Given the description of an element on the screen output the (x, y) to click on. 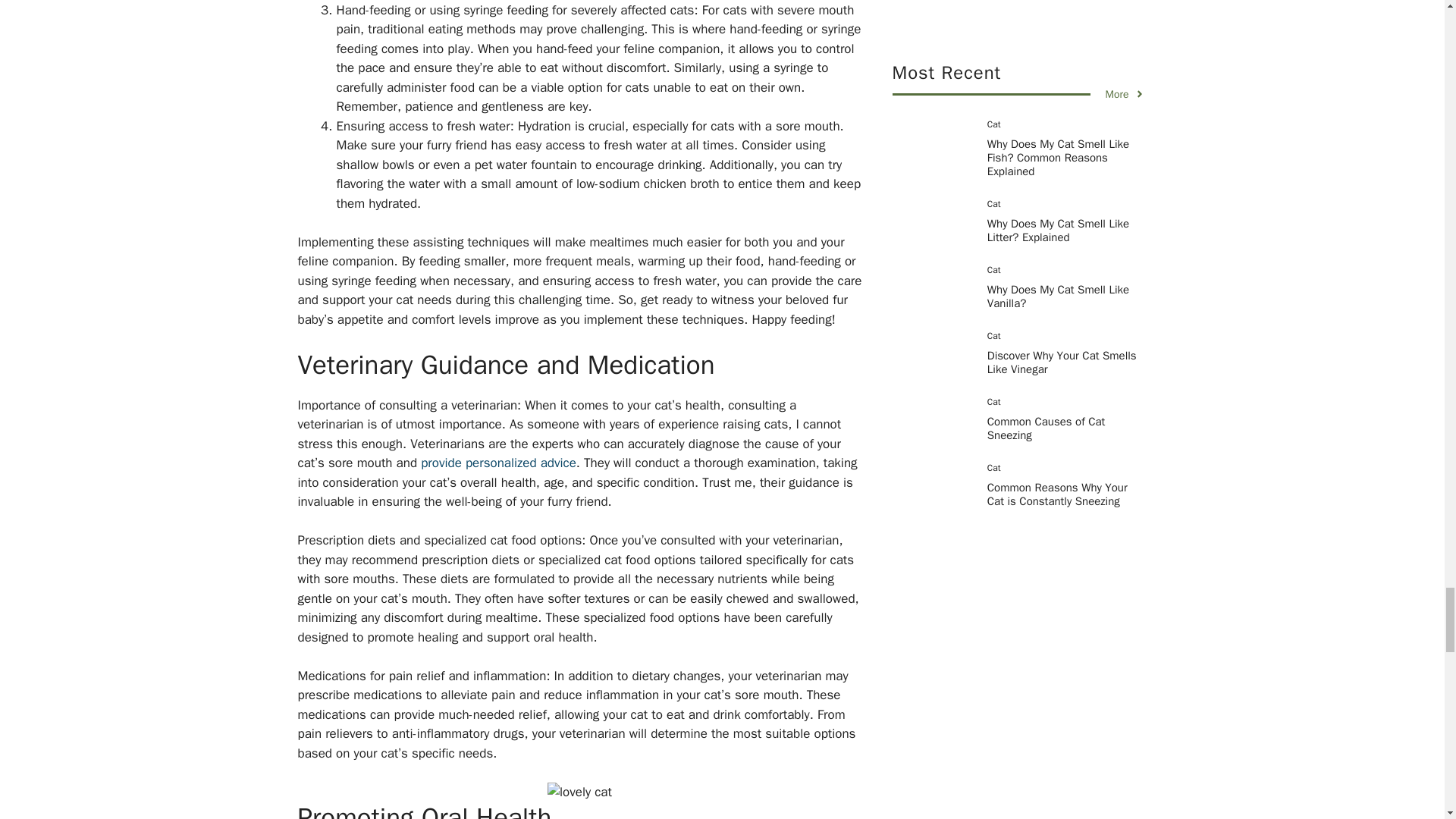
provide personalized advice (498, 462)
